Given the description of an element on the screen output the (x, y) to click on. 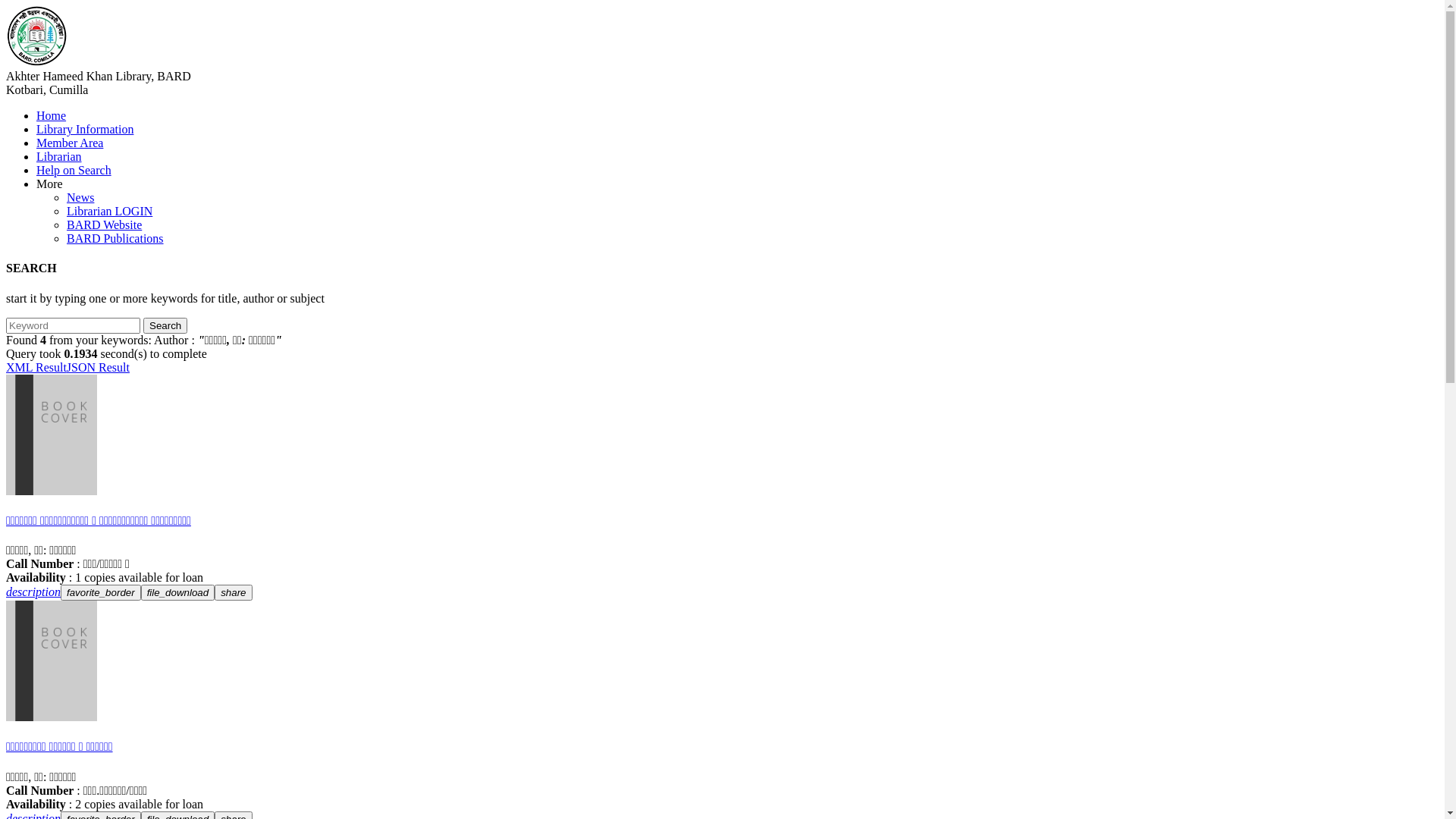
News Element type: text (80, 197)
description Element type: text (33, 591)
Search Element type: text (165, 325)
BARD Website Element type: text (103, 224)
JSON Result Element type: text (97, 366)
favorite_border Element type: text (100, 592)
Member Area Element type: text (69, 142)
file_download Element type: text (178, 592)
Librarian Element type: text (58, 156)
BARD Publications Element type: text (114, 238)
share Element type: text (232, 592)
Home Element type: text (50, 115)
Help on Search Element type: text (73, 169)
Library Information Element type: text (84, 128)
XML Result Element type: text (36, 366)
Librarian LOGIN Element type: text (109, 210)
More Element type: text (49, 183)
